Given the description of an element on the screen output the (x, y) to click on. 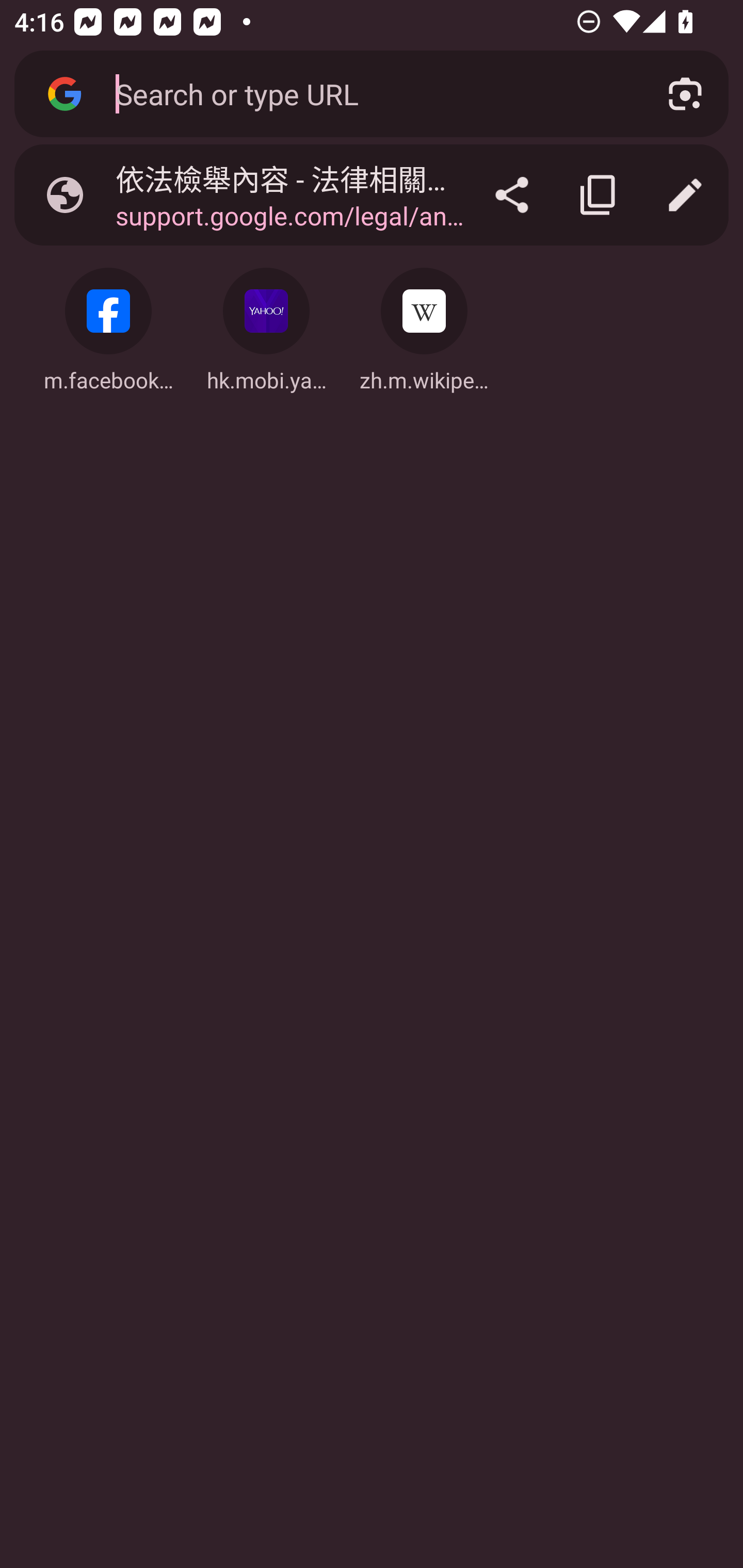
Search with your camera using Google Lens (684, 93)
Search or type URL (367, 92)
Share… (511, 195)
Copy link (598, 195)
Edit (684, 195)
